Given the description of an element on the screen output the (x, y) to click on. 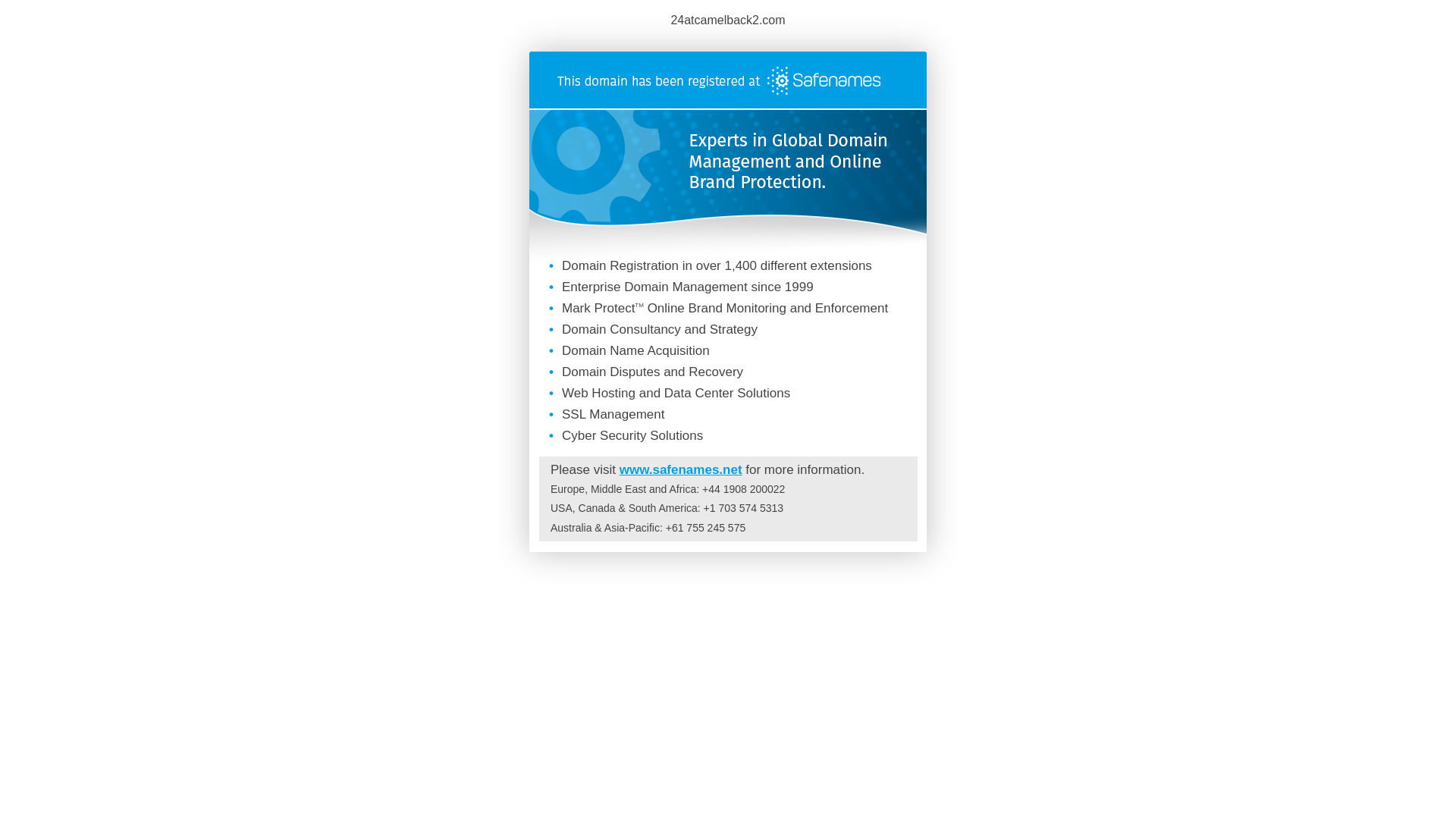
www.safenames.net Element type: text (680, 469)
